Given the description of an element on the screen output the (x, y) to click on. 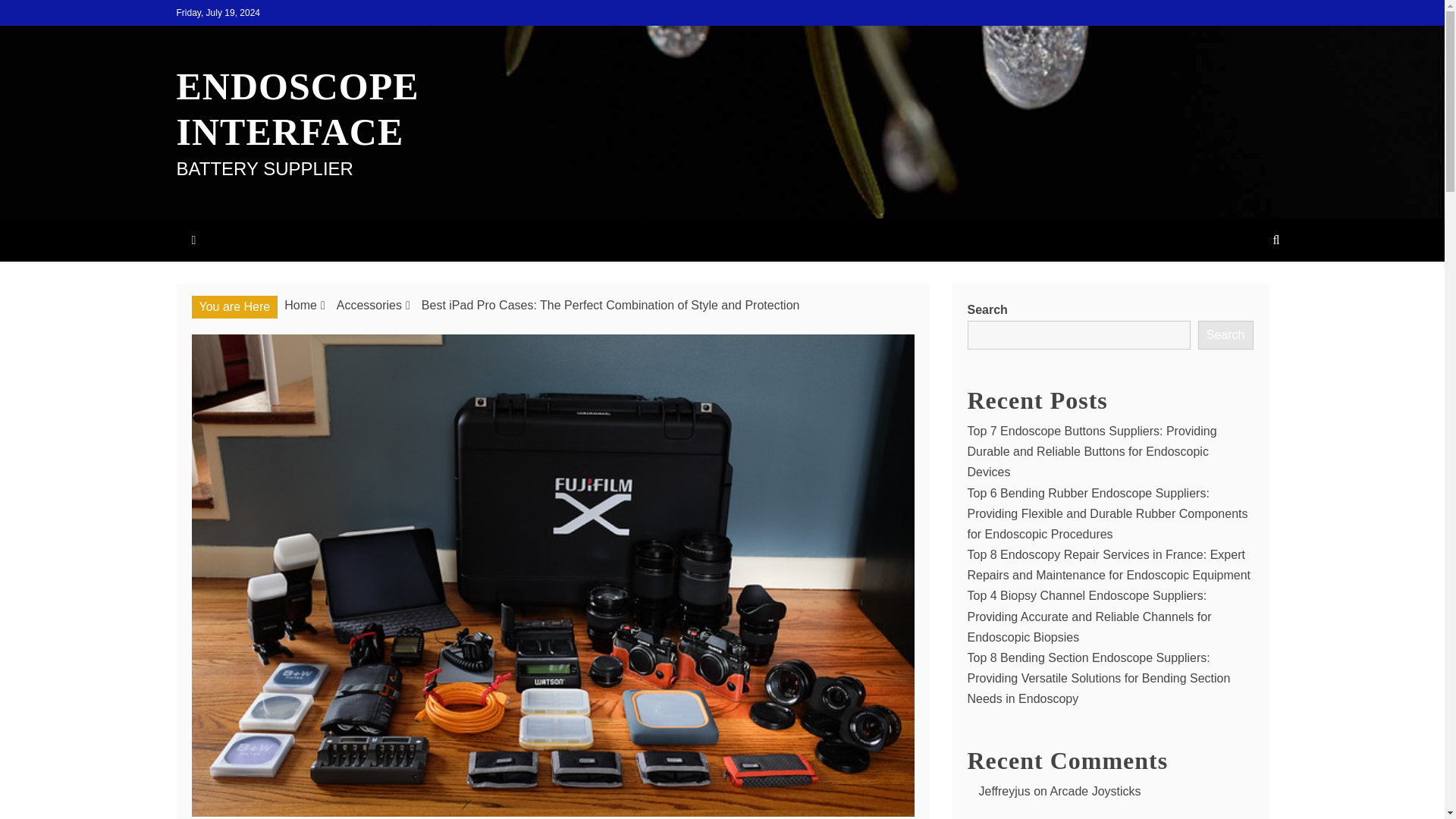
Home (300, 305)
ENDOSCOPE INTERFACE (297, 109)
Accessories (368, 305)
Search (1225, 335)
